Given the description of an element on the screen output the (x, y) to click on. 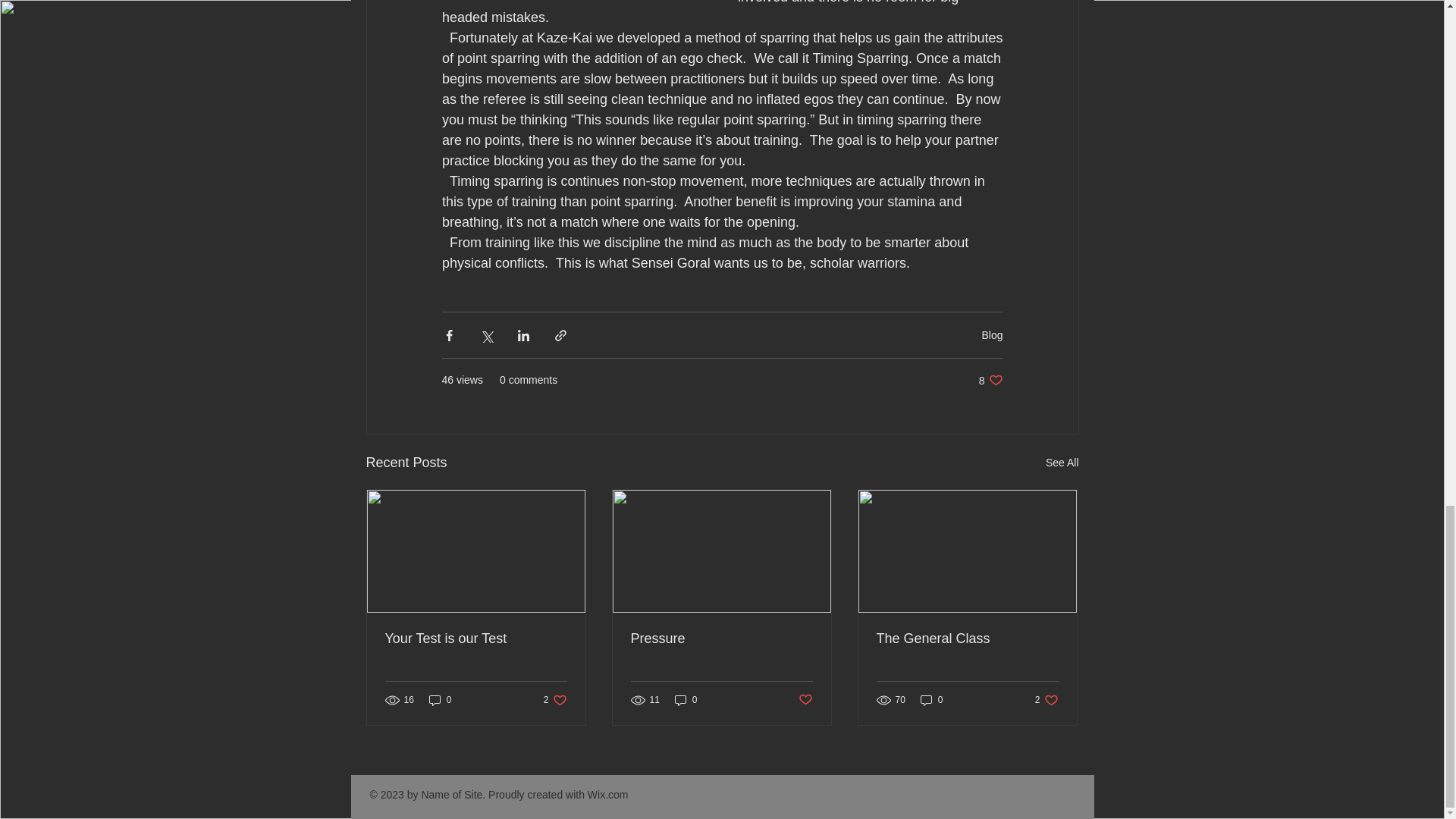
The General Class (967, 638)
0 (555, 699)
Pressure (931, 699)
Blog (721, 638)
Your Test is our Test (992, 334)
See All (990, 380)
0 (476, 638)
